Given the description of an element on the screen output the (x, y) to click on. 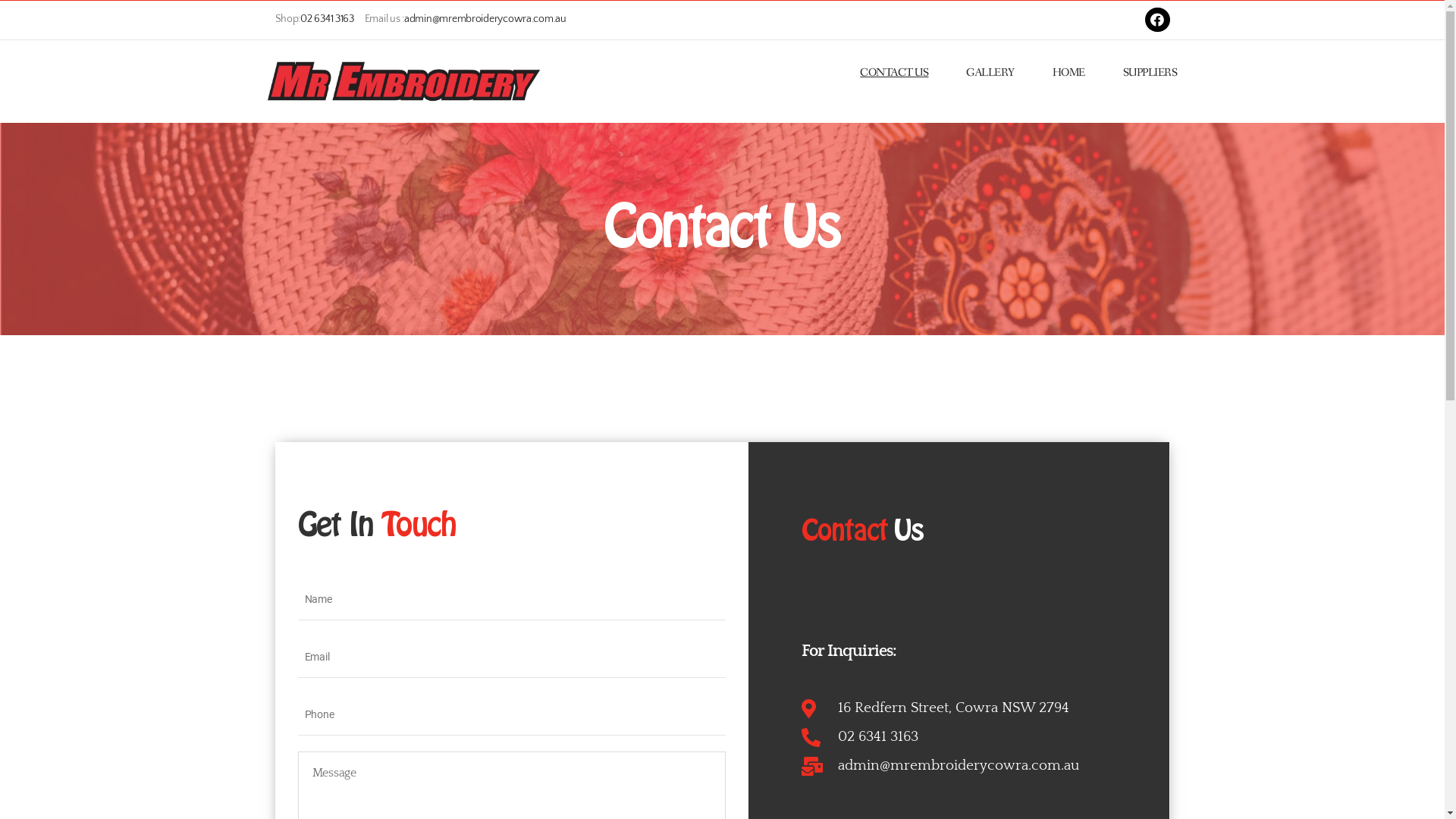
02 6341 3163 Element type: text (327, 18)
admin@mrembroiderycowra.com.au Element type: text (485, 18)
admin@mrembroiderycowra.com.au Element type: text (974, 765)
GALLERY Element type: text (990, 72)
CONTACT US Element type: text (893, 72)
02 6341 3163 Element type: text (974, 736)
SUPPLIERS Element type: text (1150, 72)
HOME Element type: text (1068, 72)
